Given the description of an element on the screen output the (x, y) to click on. 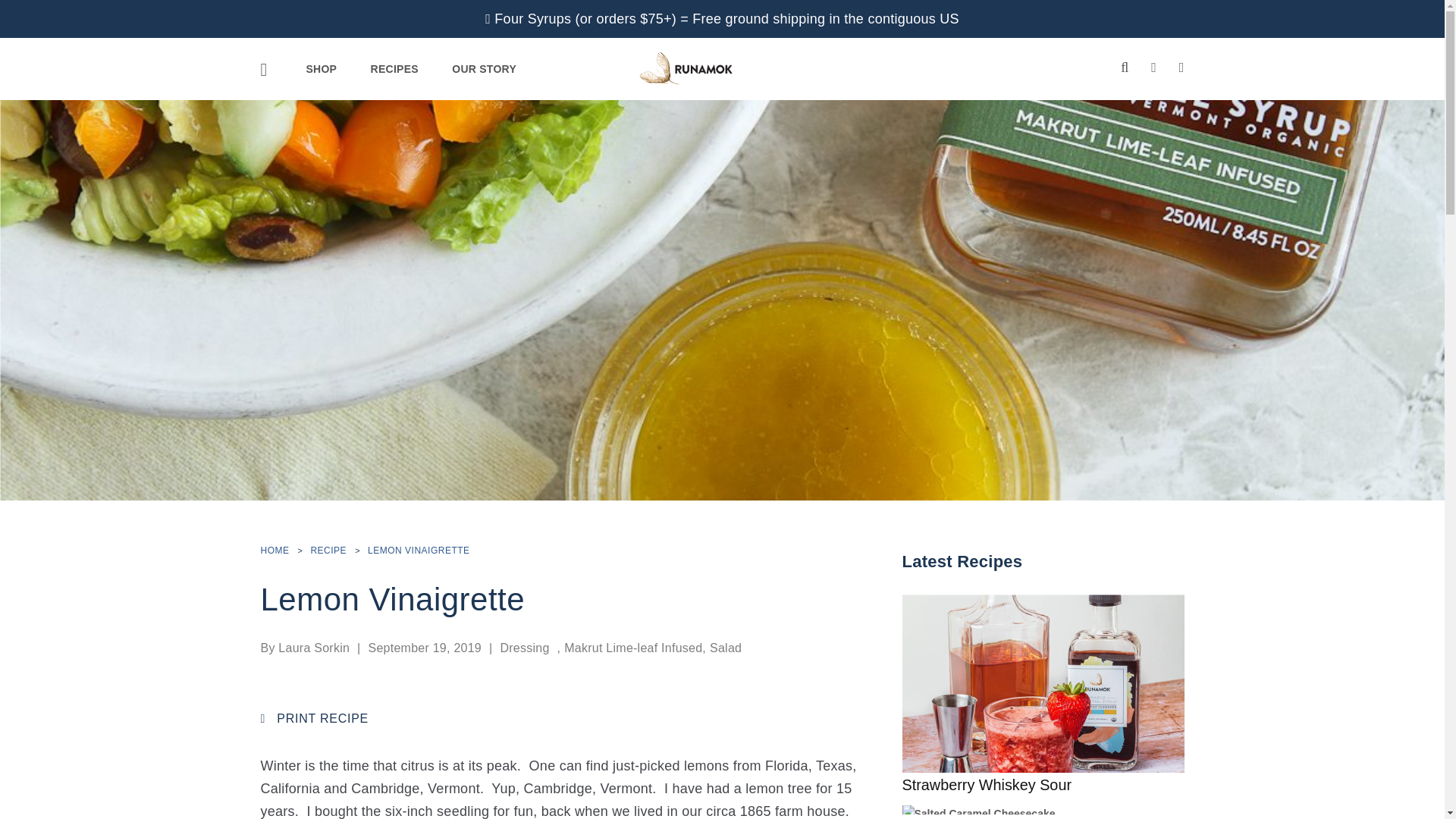
SHOP (320, 68)
PRINT RECIPE (314, 718)
